Given the description of an element on the screen output the (x, y) to click on. 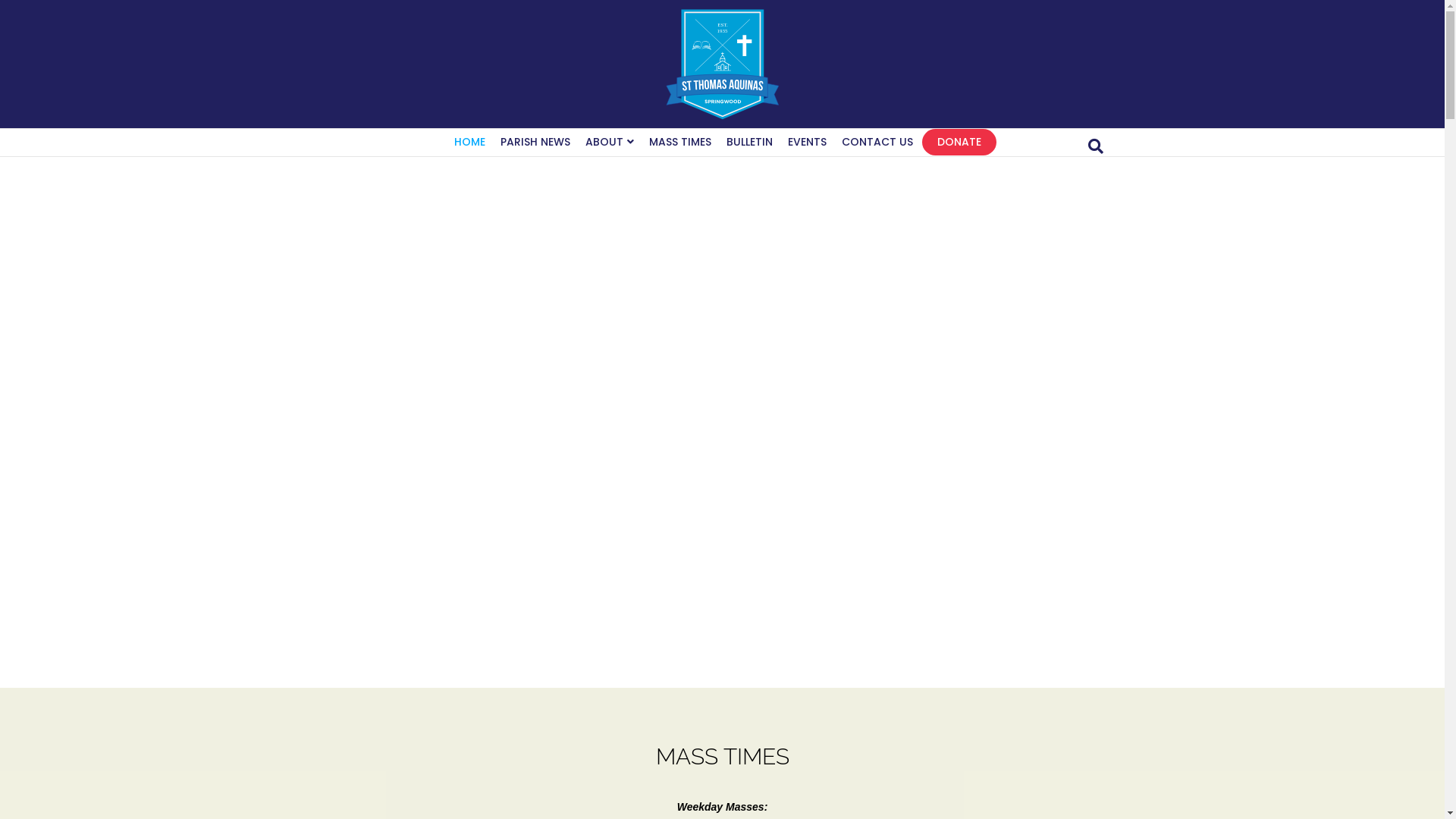
EVENTS Element type: text (806, 142)
DONATE Element type: text (959, 142)
HOME Element type: text (469, 142)
PARISH NEWS Element type: text (535, 142)
CONTACT US Element type: text (877, 142)
BULLETIN Element type: text (749, 142)
ABOUT Element type: text (609, 142)
MASS TIMES Element type: text (680, 142)
